Given the description of an element on the screen output the (x, y) to click on. 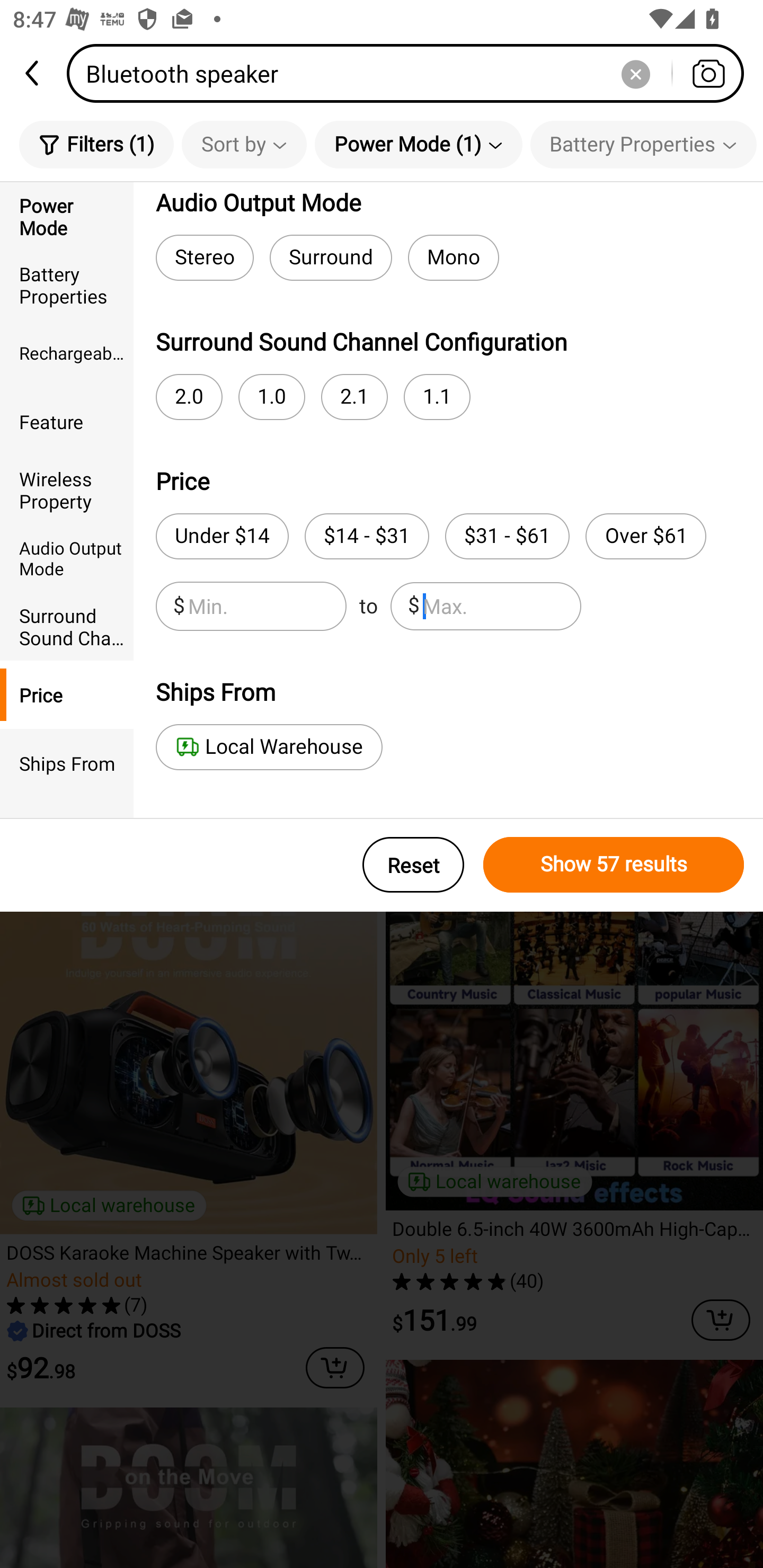
back (33, 72)
Bluetooth speaker (411, 73)
Delete search history (635, 73)
Search by photo (708, 73)
Filters (1) (96, 143)
Sort by (243, 143)
Power Mode (1) (418, 143)
Battery Properties (643, 143)
Power Mode (66, 215)
Stereo (204, 257)
Surround (330, 257)
Mono (453, 257)
Battery Properties (66, 284)
Rechargeable Battery (66, 352)
2.0 (188, 397)
1.0 (271, 397)
2.1 (354, 397)
1.1 (436, 397)
Feature (66, 421)
Wireless Property (66, 489)
Under $14 (221, 535)
$14 - $31 (366, 535)
$31 - $61 (506, 535)
Over $61 (645, 535)
Audio Output Mode (66, 557)
$ Min. to $ Max. (368, 605)
Surround Sound Channel Configuration (66, 626)
Price (66, 694)
Local Warehouse (268, 746)
Reset (412, 864)
Show 57 results (612, 864)
